Given the description of an element on the screen output the (x, y) to click on. 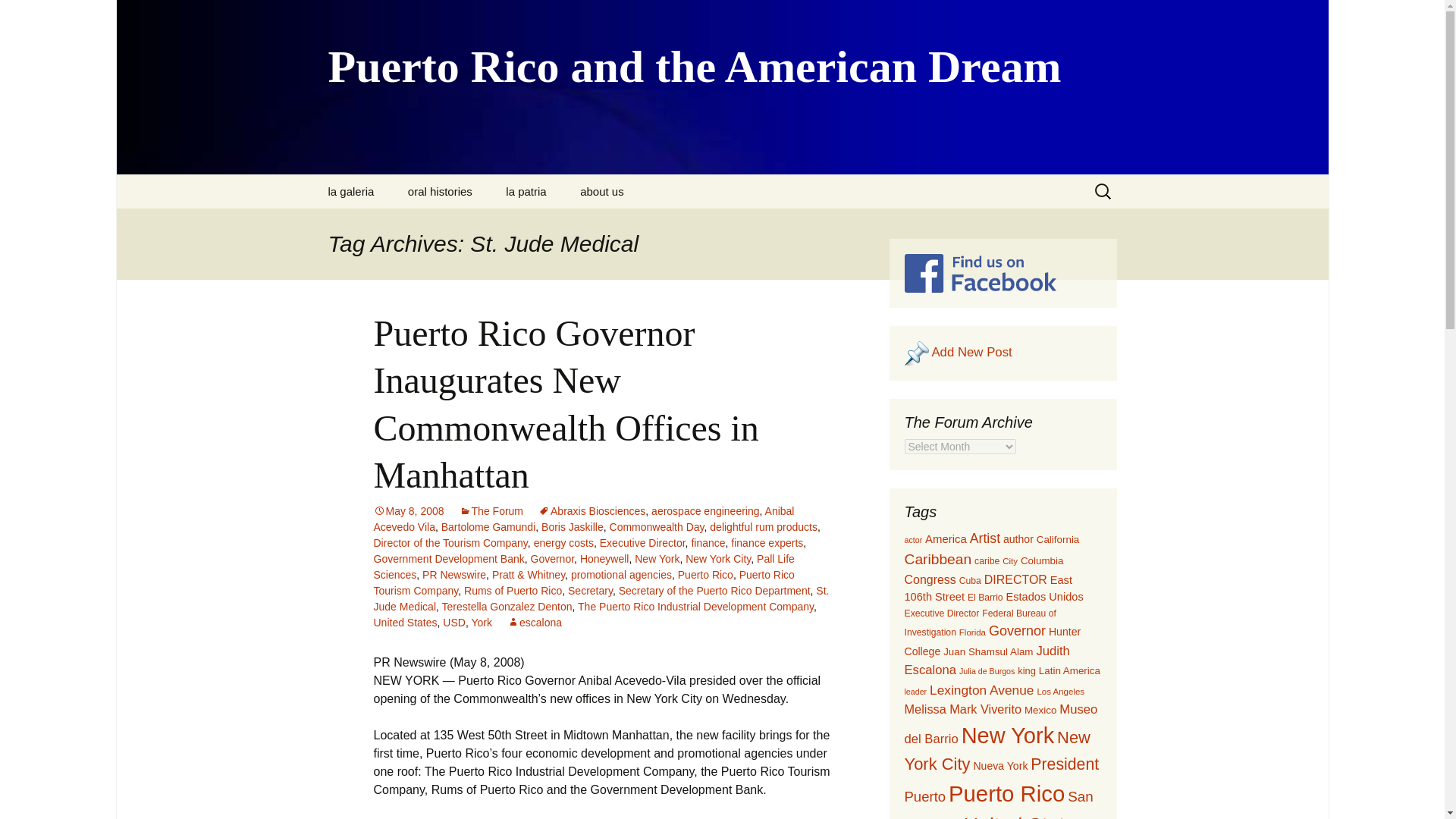
finance experts (766, 542)
finance (707, 542)
Terestella Gonzalez Denton (507, 606)
Secretary of the Puerto Rico Department (714, 590)
Secretary (589, 590)
Boris Jaskille (572, 526)
Government Development Bank (448, 558)
Pall Life Sciences (582, 566)
Puerto Rico (705, 574)
